Given the description of an element on the screen output the (x, y) to click on. 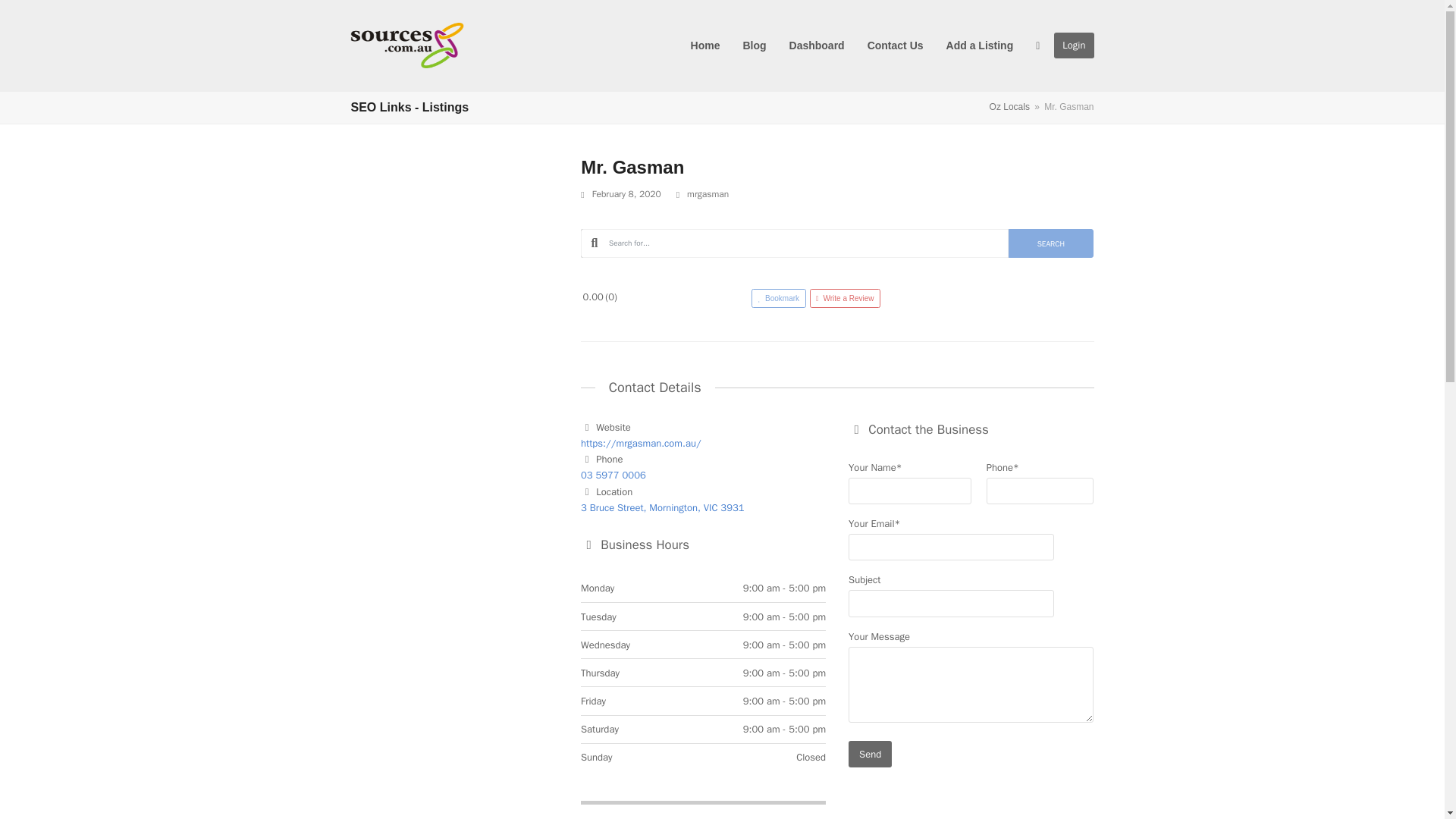
03 5977 0006 (613, 474)
Send (869, 754)
Write a Review (844, 298)
Login (1073, 45)
mrgasman (708, 193)
Contact Us (895, 45)
3 Bruce Street, Mornington, VIC 3931 (662, 507)
Add a Listing (979, 45)
SEARCH (1051, 243)
Login (1073, 45)
Oz Locals (1009, 106)
Blog (753, 45)
Posts by mrgasman (708, 193)
Bookmark (779, 298)
Dashboard (816, 45)
